Given the description of an element on the screen output the (x, y) to click on. 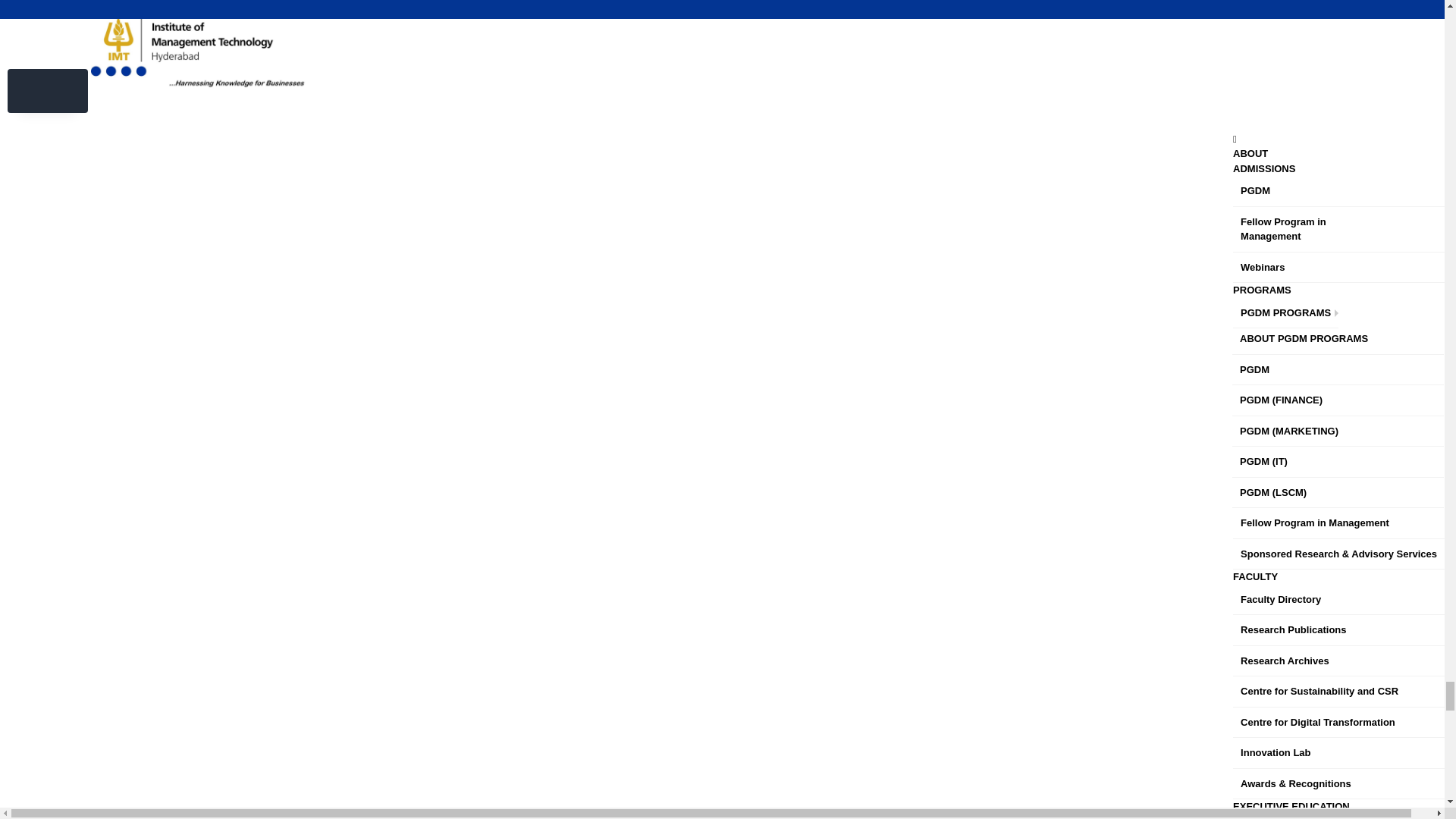
Additional Links (51, 527)
